Given the description of an element on the screen output the (x, y) to click on. 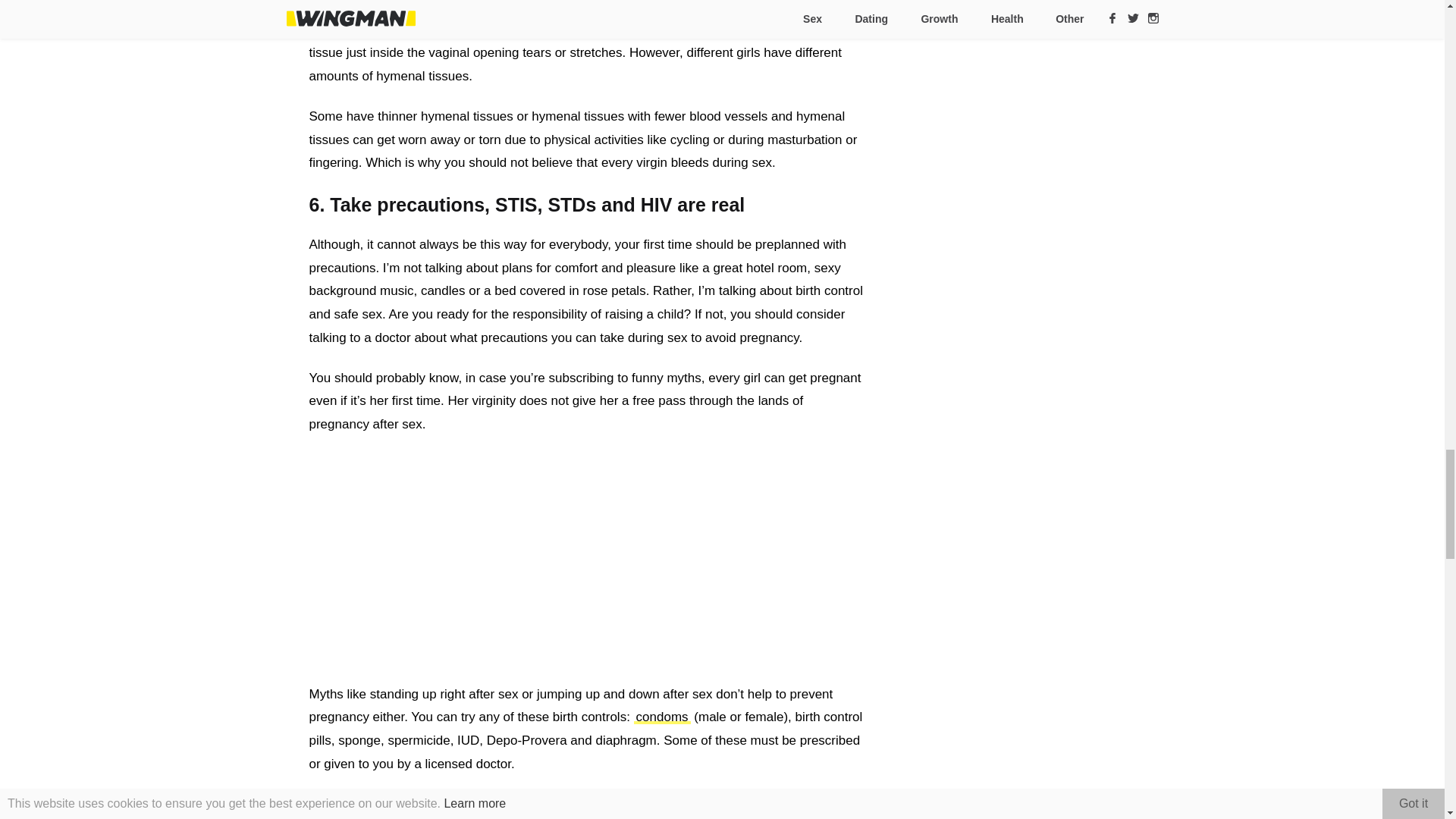
condoms (661, 716)
